Given the description of an element on the screen output the (x, y) to click on. 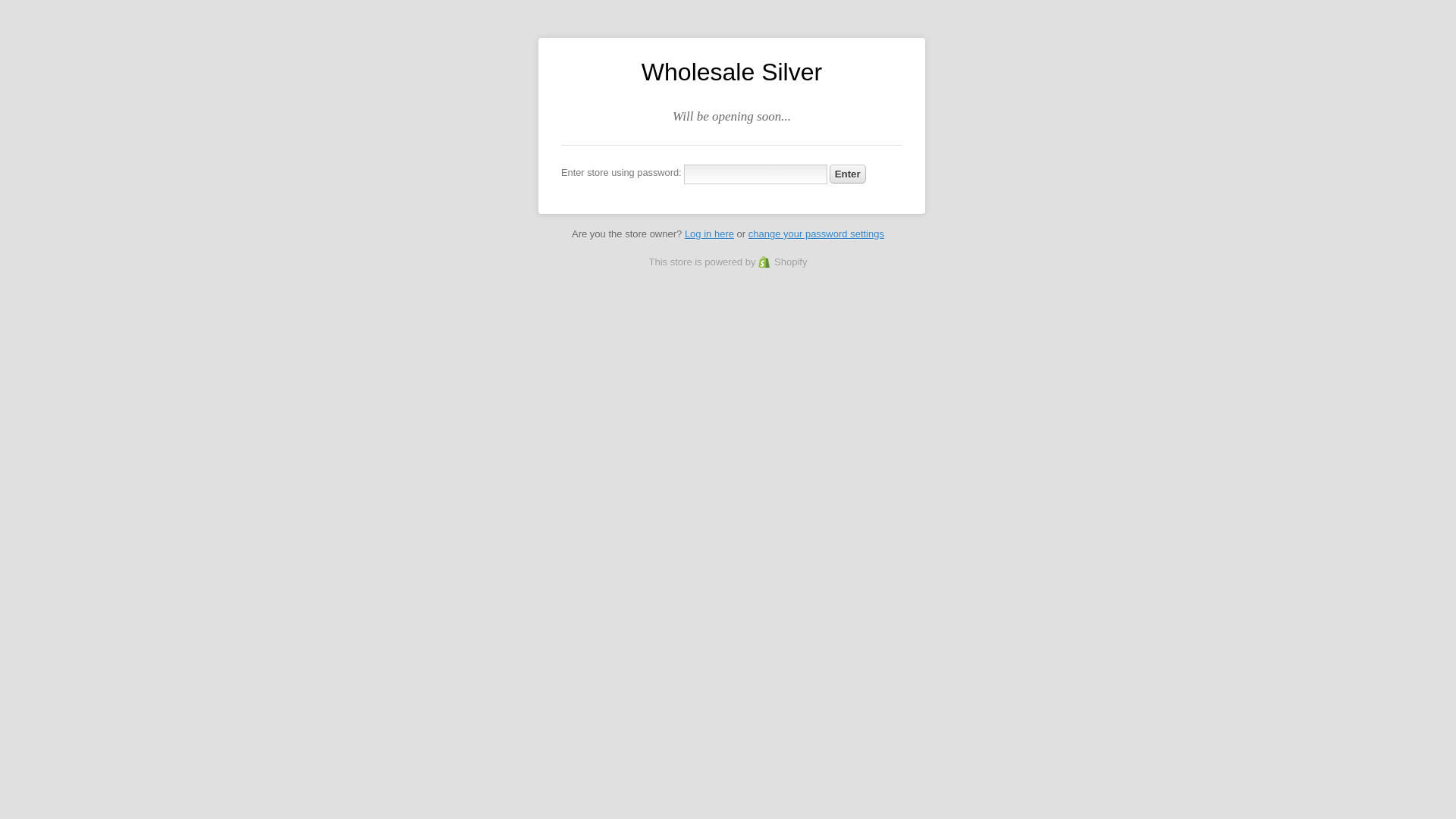
Enter (847, 173)
Enter (847, 173)
